Given the description of an element on the screen output the (x, y) to click on. 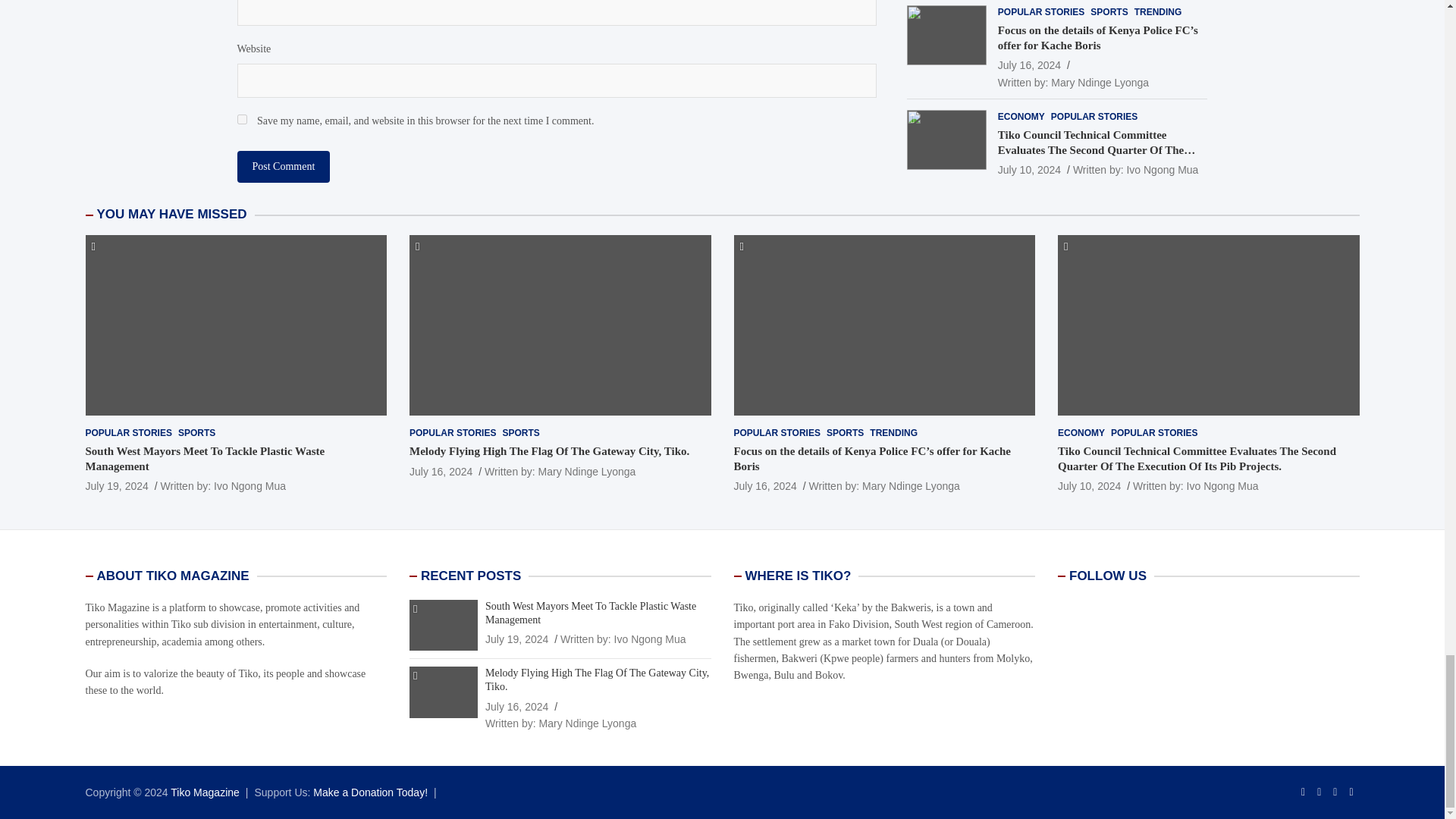
Post Comment (282, 166)
yes (240, 119)
